Given the description of an element on the screen output the (x, y) to click on. 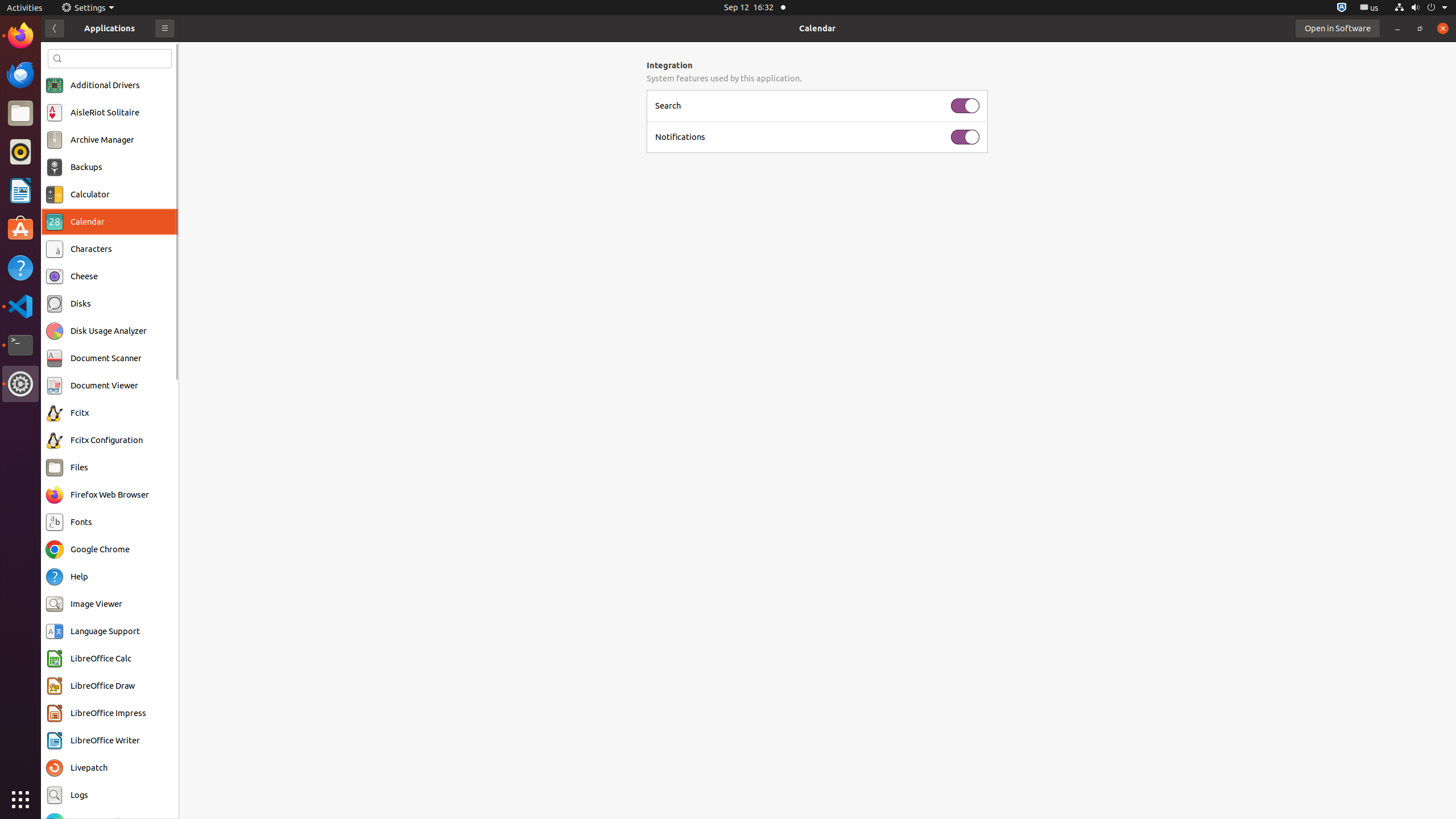
System features used by this application. Element type: label (816, 78)
Document Scanner Element type: label (105, 358)
AisleRiot Solitaire Element type: label (104, 112)
